Given the description of an element on the screen output the (x, y) to click on. 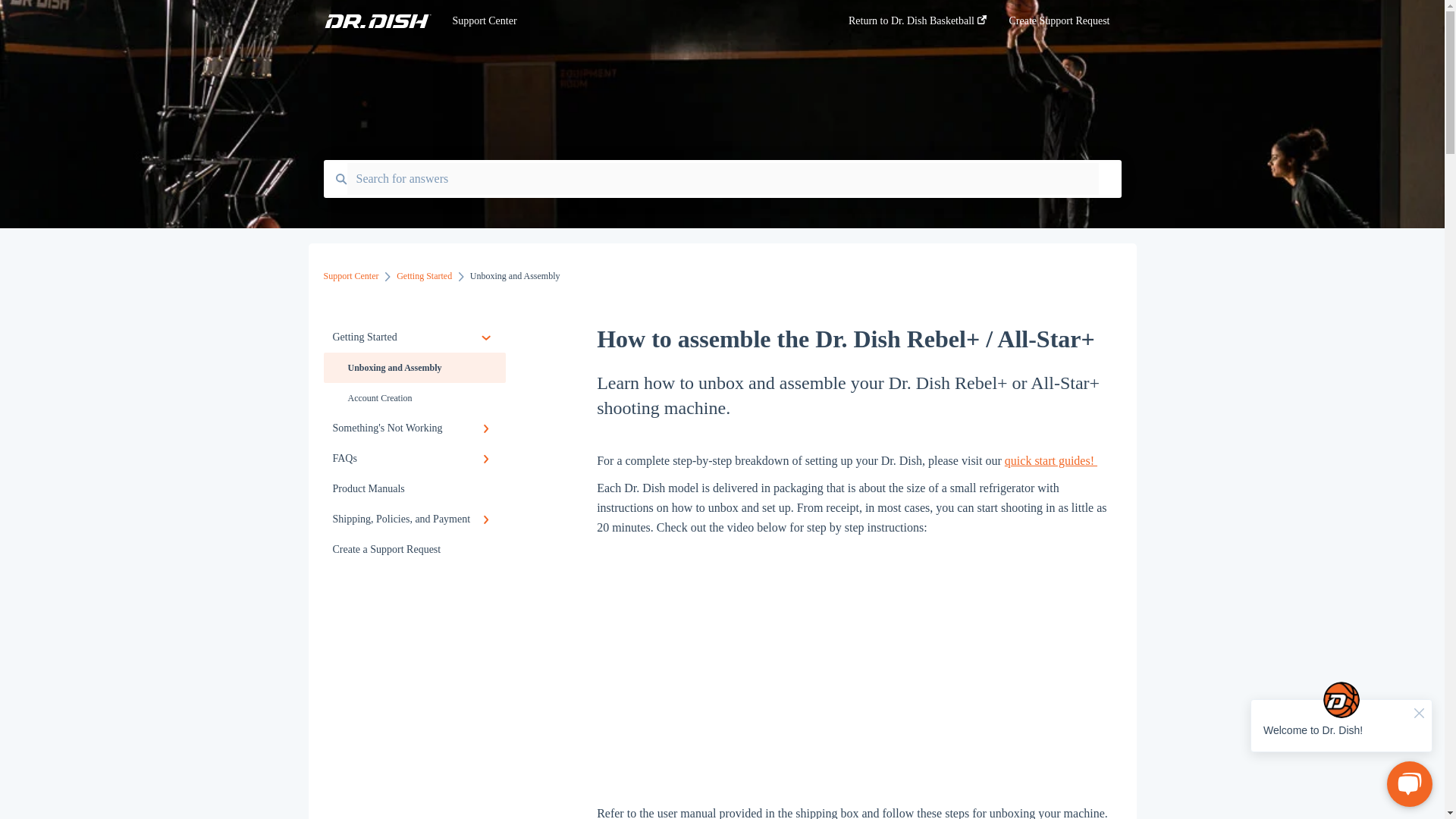
Getting Started (423, 276)
Account Creation (414, 398)
Support Center (627, 21)
Return to Dr. Dish Basketball (917, 25)
YouTube video player (855, 664)
Create Support Request (1059, 25)
Something's Not Working (414, 428)
Product Manuals (414, 489)
Shipping, Policies, and Payment (414, 519)
Getting Started (414, 337)
Support Center (350, 276)
Unboxing and Assembly (414, 367)
FAQs (414, 458)
